Given the description of an element on the screen output the (x, y) to click on. 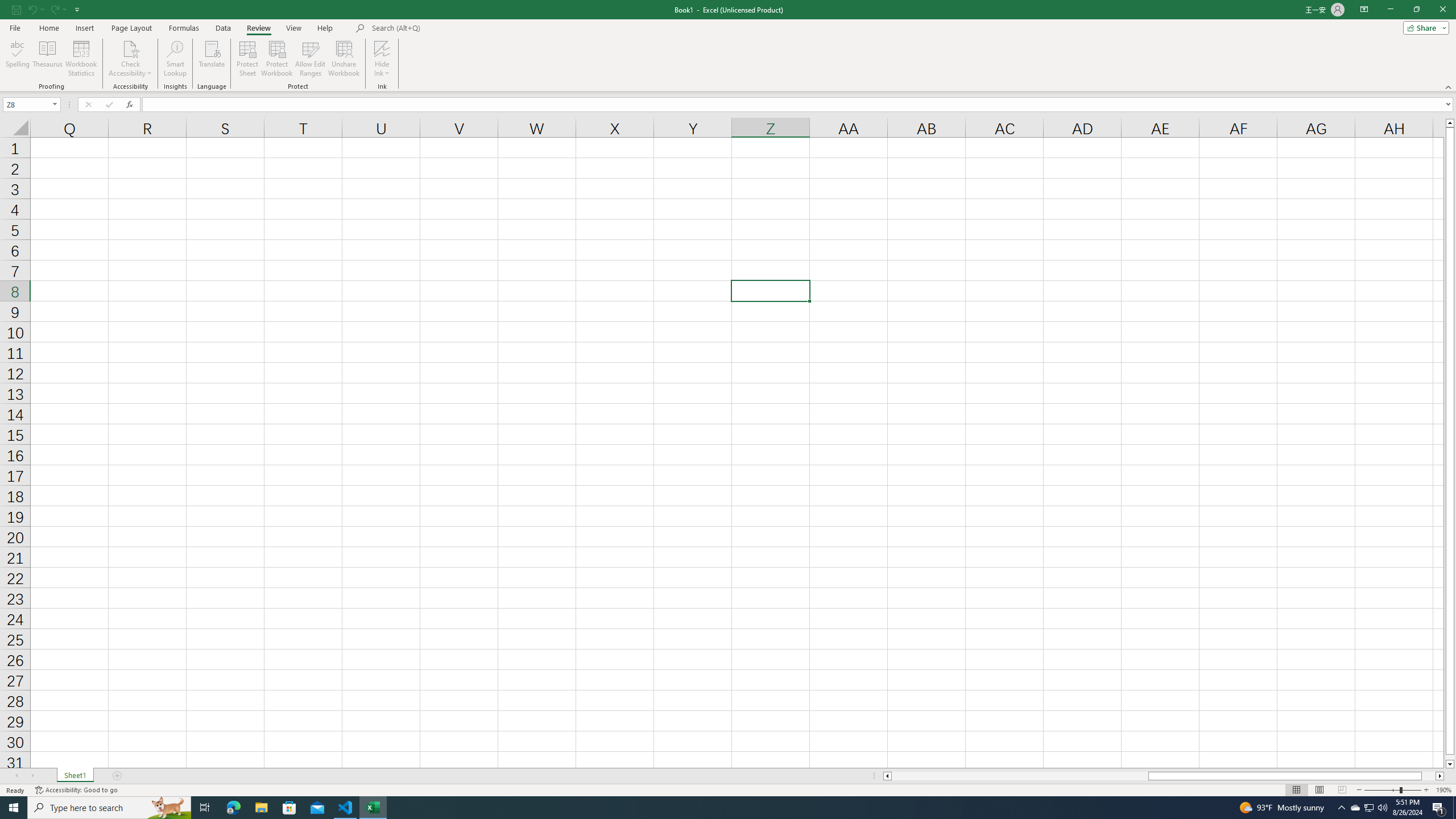
Unshare Workbook (344, 58)
